Given the description of an element on the screen output the (x, y) to click on. 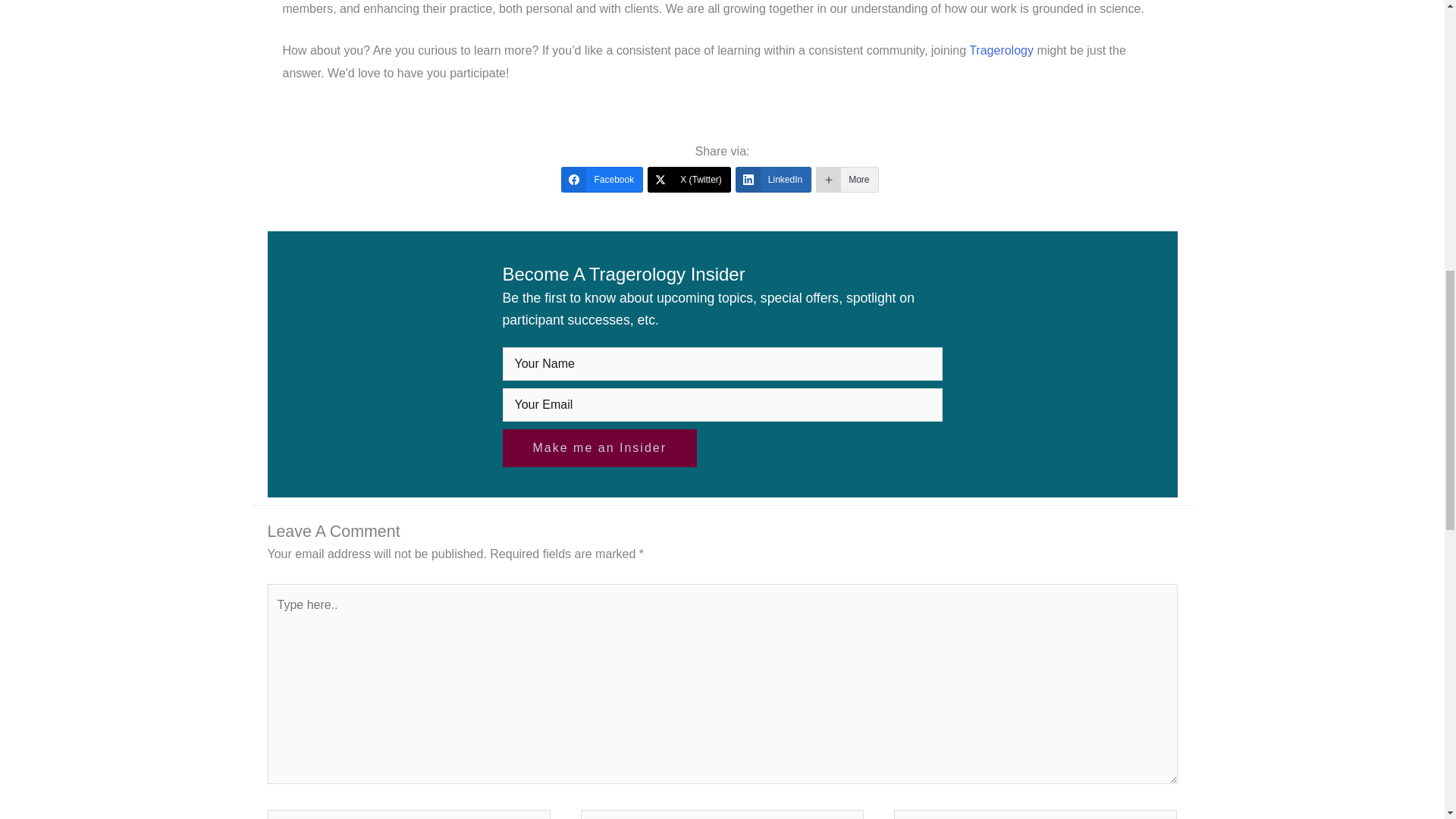
More (846, 179)
LinkedIn (772, 179)
Tragerology (1001, 50)
Make me an Insider (599, 447)
Facebook (601, 179)
Click Here (599, 447)
